Given the description of an element on the screen output the (x, y) to click on. 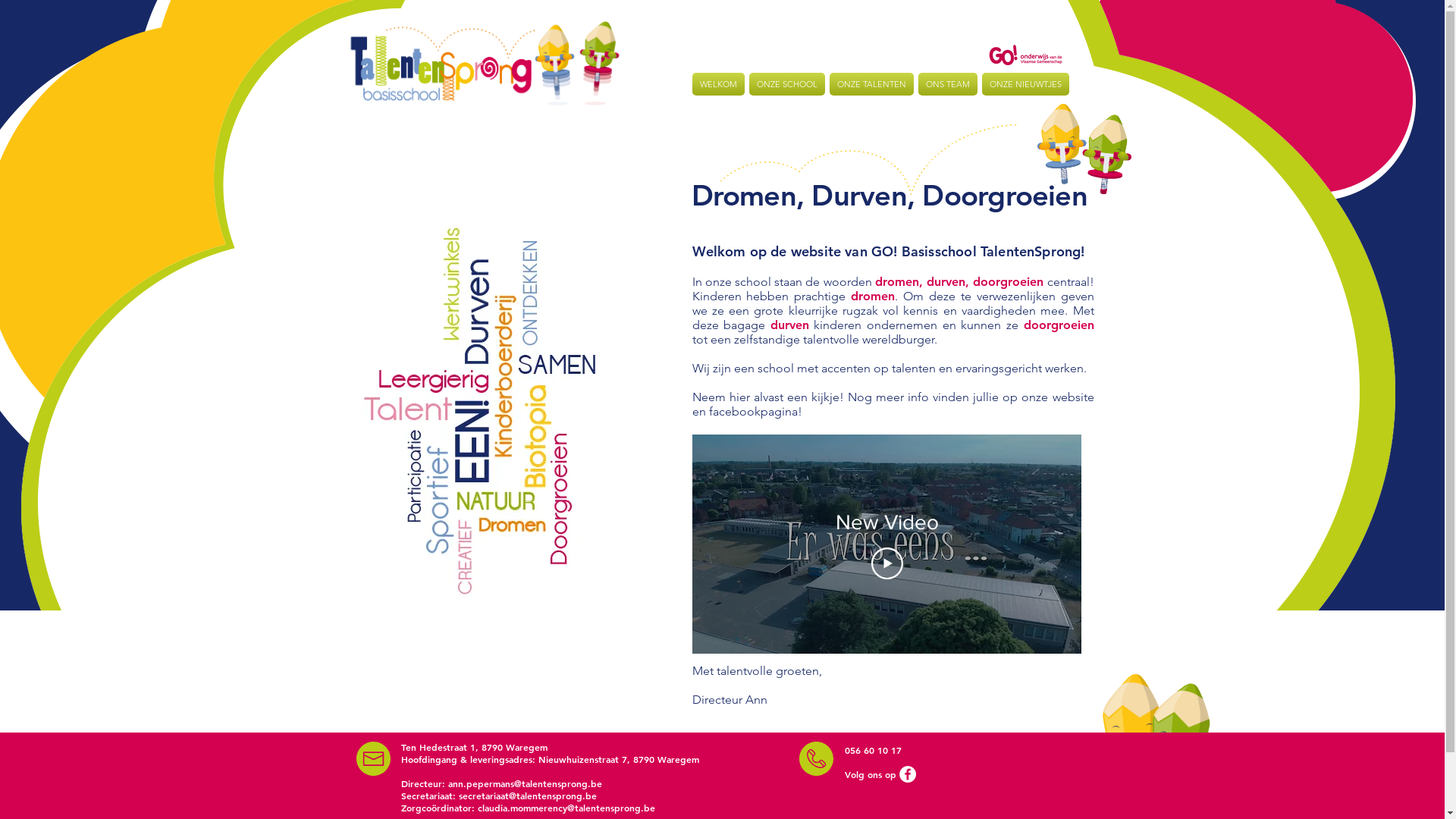
ONS TEAM Element type: text (947, 83)
secretariaat@talentensprong.be Element type: text (527, 795)
StippenGeel.gif Element type: hover (867, 159)
claudia.mommerency@talentensprong.be Element type: text (566, 807)
WELKOM Element type: text (718, 83)
ONZE TALENTEN Element type: text (870, 83)
ONZE NIEUWTJES Element type: text (1025, 83)
ONZE SCHOOL Element type: text (786, 83)
Logo_Talentensprong.gif Element type: hover (483, 61)
ann.pepermans@talentensprong.be Element type: text (524, 783)
